Given the description of an element on the screen output the (x, y) to click on. 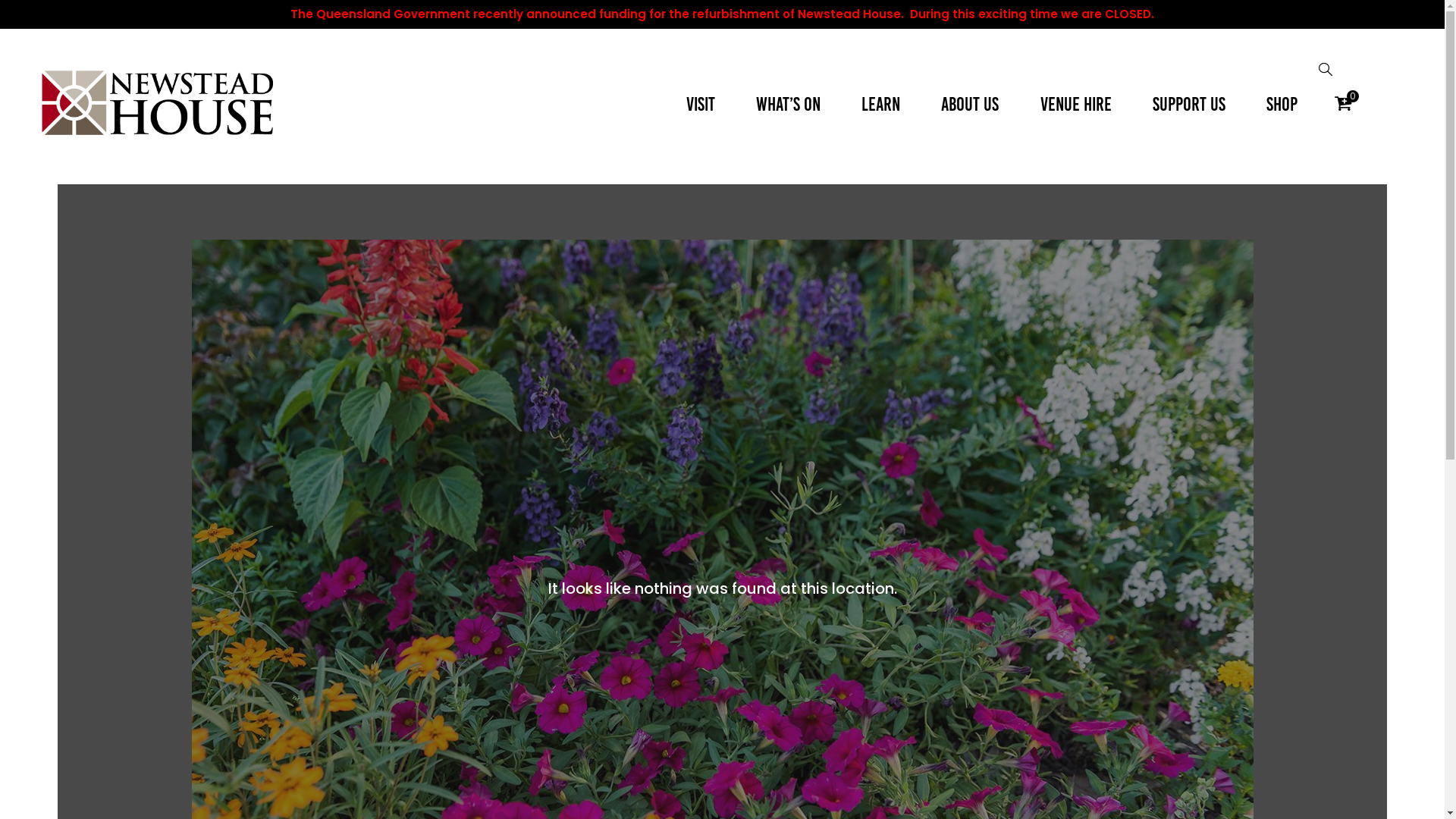
ABOUT US Element type: text (970, 103)
LEARN Element type: text (880, 103)
SUPPORT US Element type: text (1189, 103)
0 Element type: text (1342, 103)
SHOP Element type: text (1279, 103)
VENUE HIRE Element type: text (1075, 103)
VISIT Element type: text (700, 103)
